Given the description of an element on the screen output the (x, y) to click on. 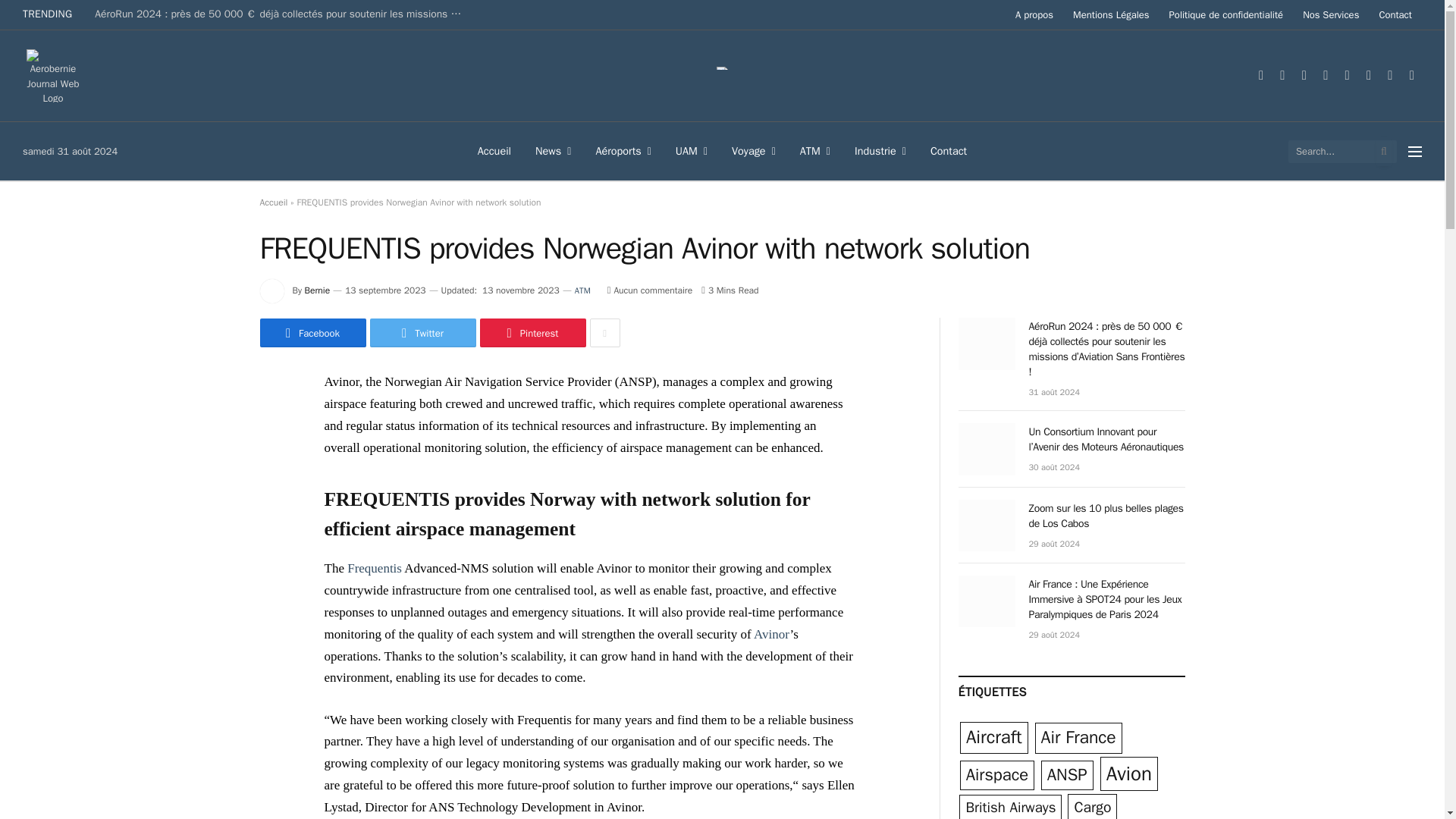
Nos Services (1330, 14)
Accueil (493, 151)
A propos (1034, 14)
News (552, 151)
Contact (1395, 14)
